Given the description of an element on the screen output the (x, y) to click on. 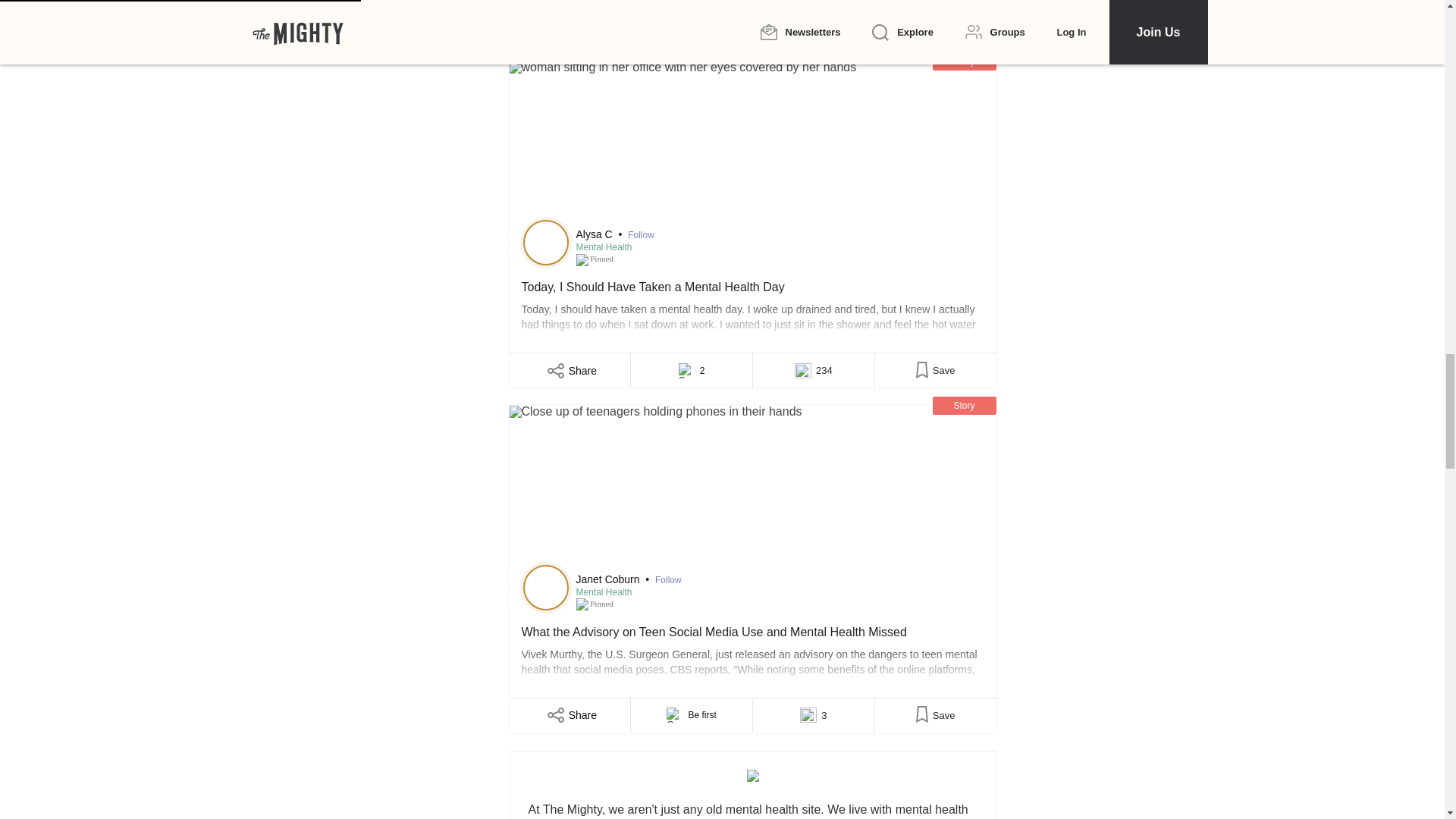
Today, I Should Have Taken a Mental Health Day (752, 307)
Today, I Should Have Taken a Mental Health Day (752, 142)
Visit Alysa C's profile (545, 242)
